Given the description of an element on the screen output the (x, y) to click on. 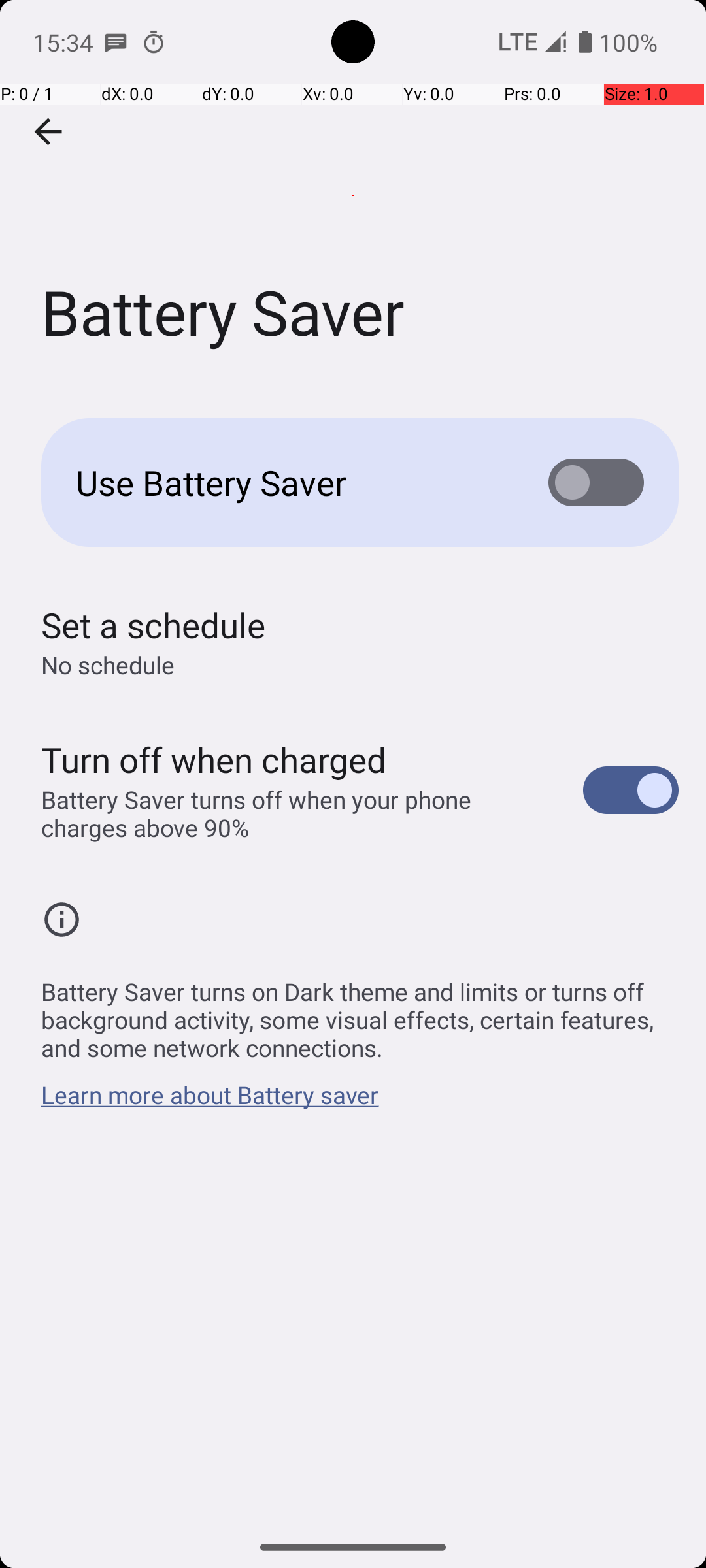
Use Battery Saver Element type: android.widget.TextView (291, 482)
Set a schedule Element type: android.widget.TextView (153, 624)
No schedule Element type: android.widget.TextView (107, 664)
Turn off when charged Element type: android.widget.TextView (213, 759)
Battery Saver turns off when your phone charges above 90% Element type: android.widget.TextView (298, 813)
Battery Saver turns on Dark theme and limits or turns off background activity, some visual effects, certain features, and some network connections. Element type: android.widget.TextView (359, 1012)
Learn more about Battery saver Element type: android.widget.TextView (210, 1101)
